Given the description of an element on the screen output the (x, y) to click on. 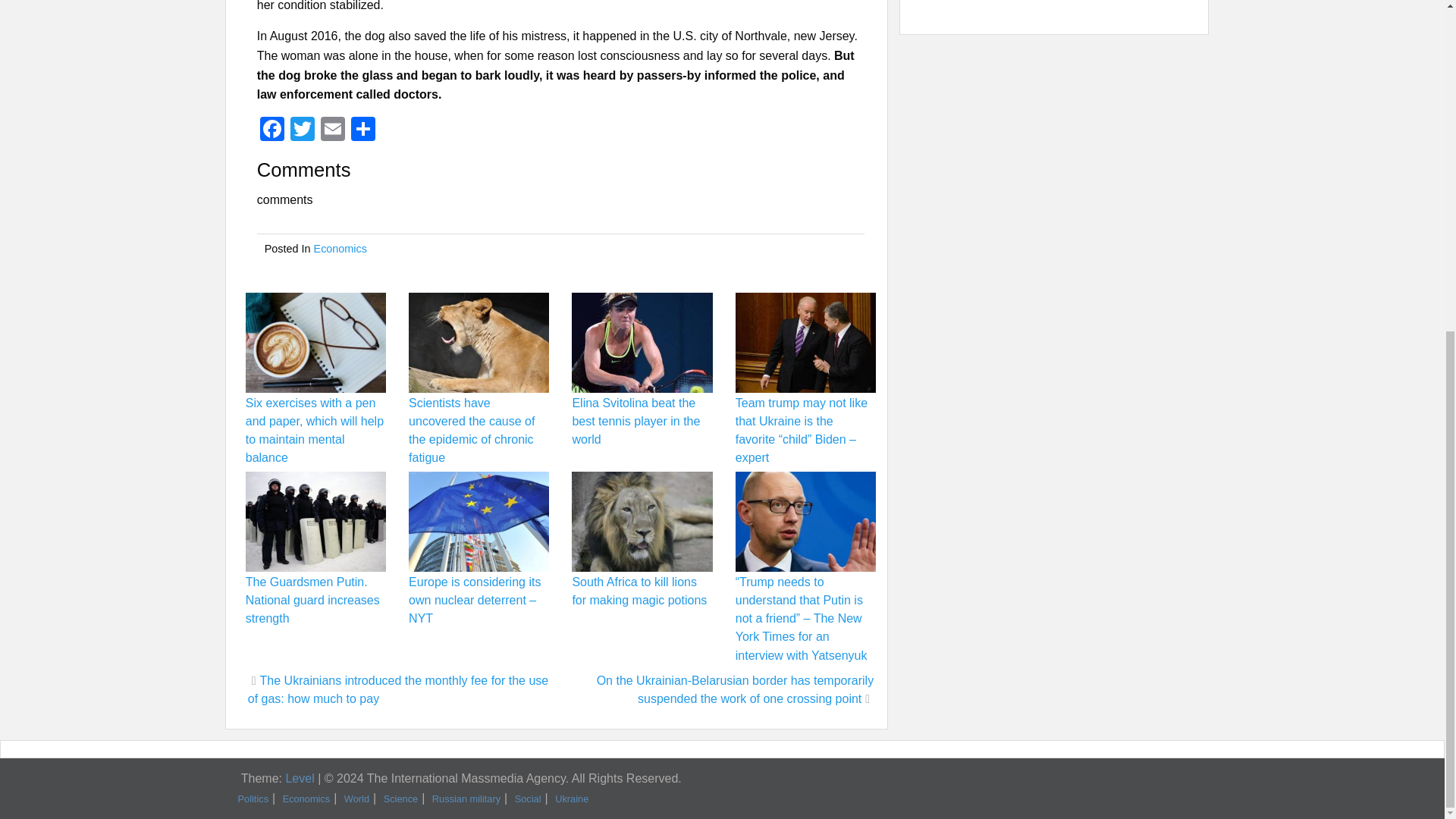
Facebook (271, 130)
Email (332, 130)
Facebook (271, 130)
Elina Svitolina beat the best tennis player in the world (636, 420)
Elina Svitolina beat the best tennis player in the world (636, 420)
Twitter (301, 130)
